Given the description of an element on the screen output the (x, y) to click on. 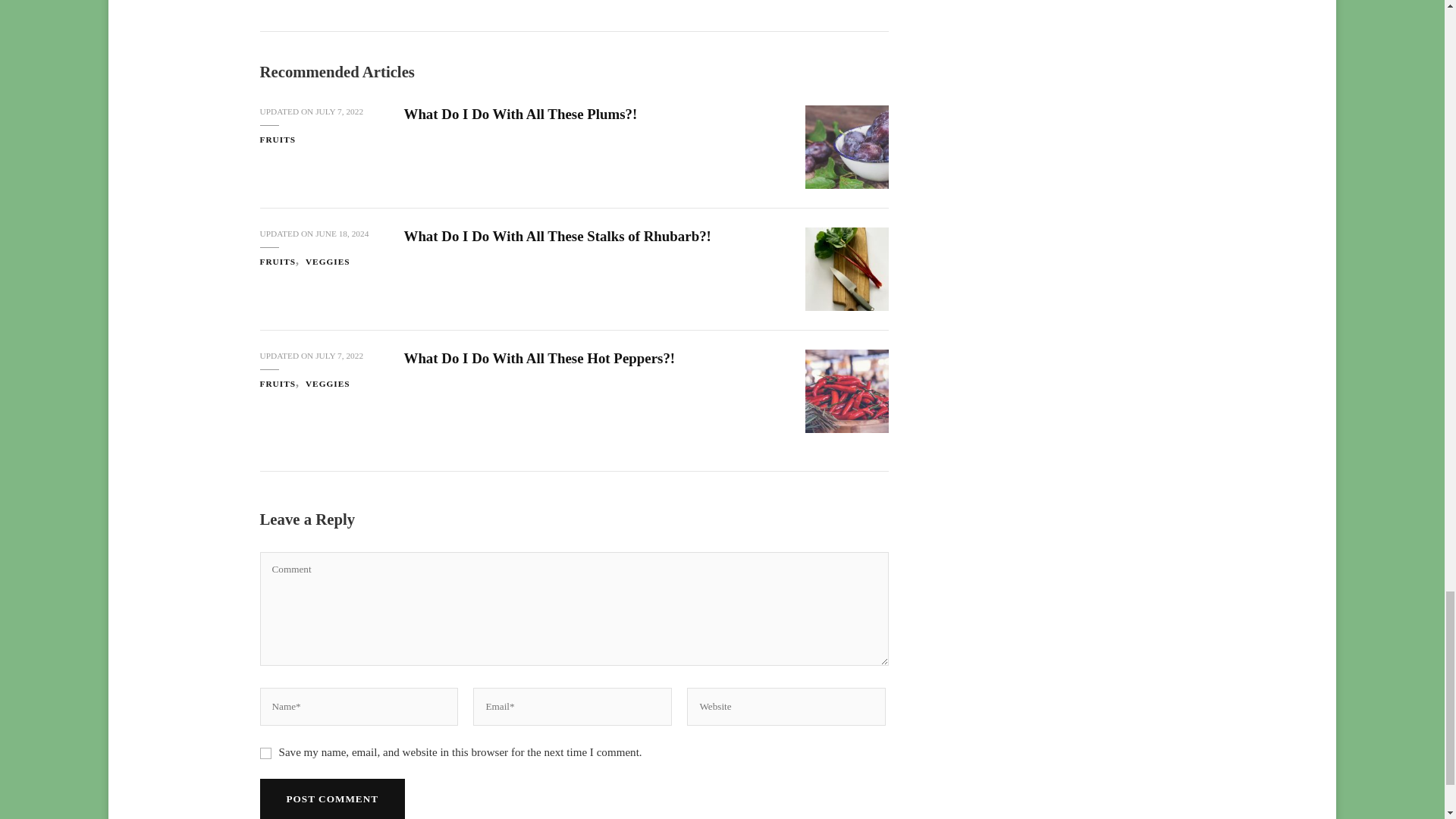
Post Comment (331, 798)
